Given the description of an element on the screen output the (x, y) to click on. 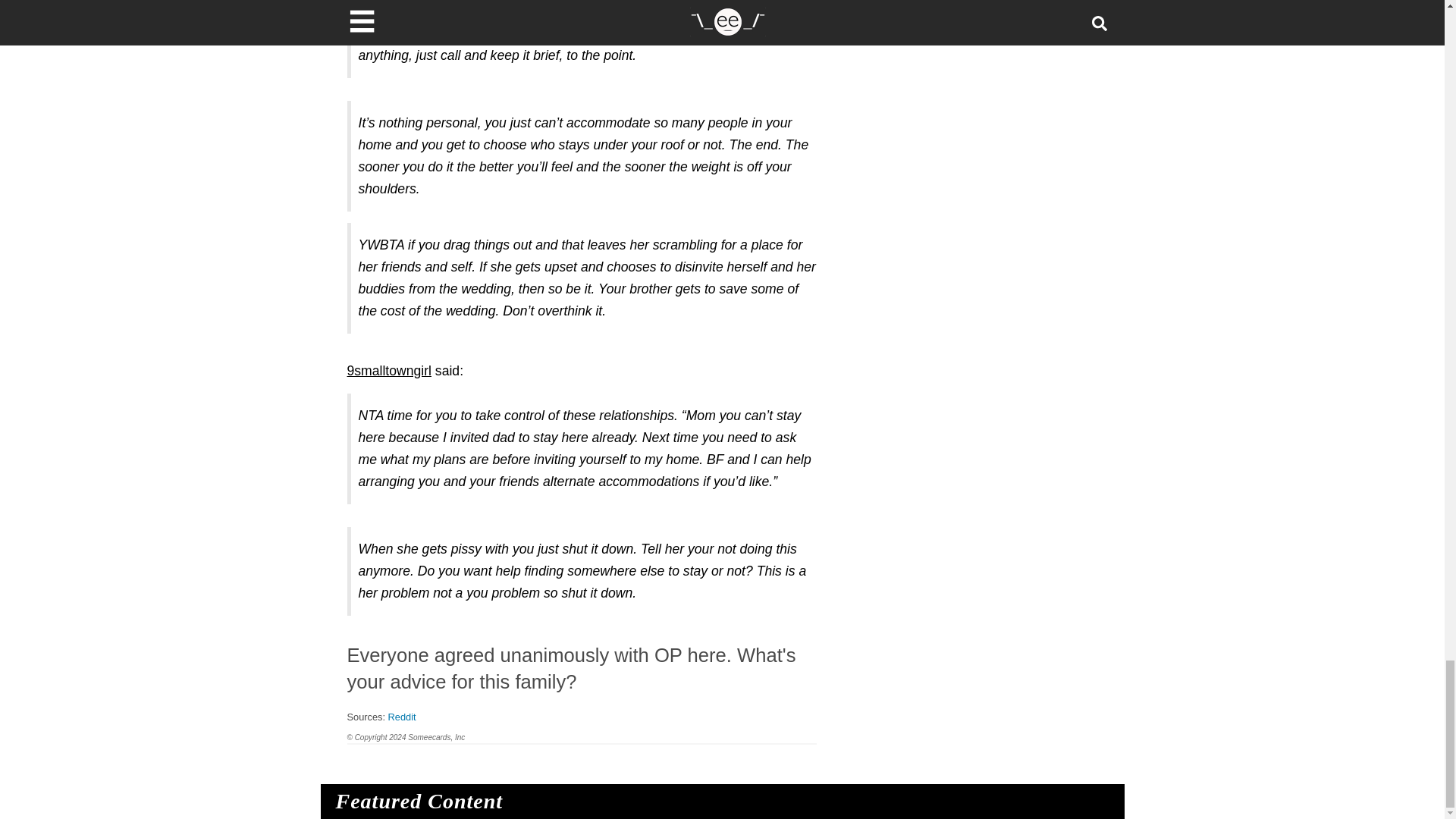
Reddit (402, 716)
